Given the description of an element on the screen output the (x, y) to click on. 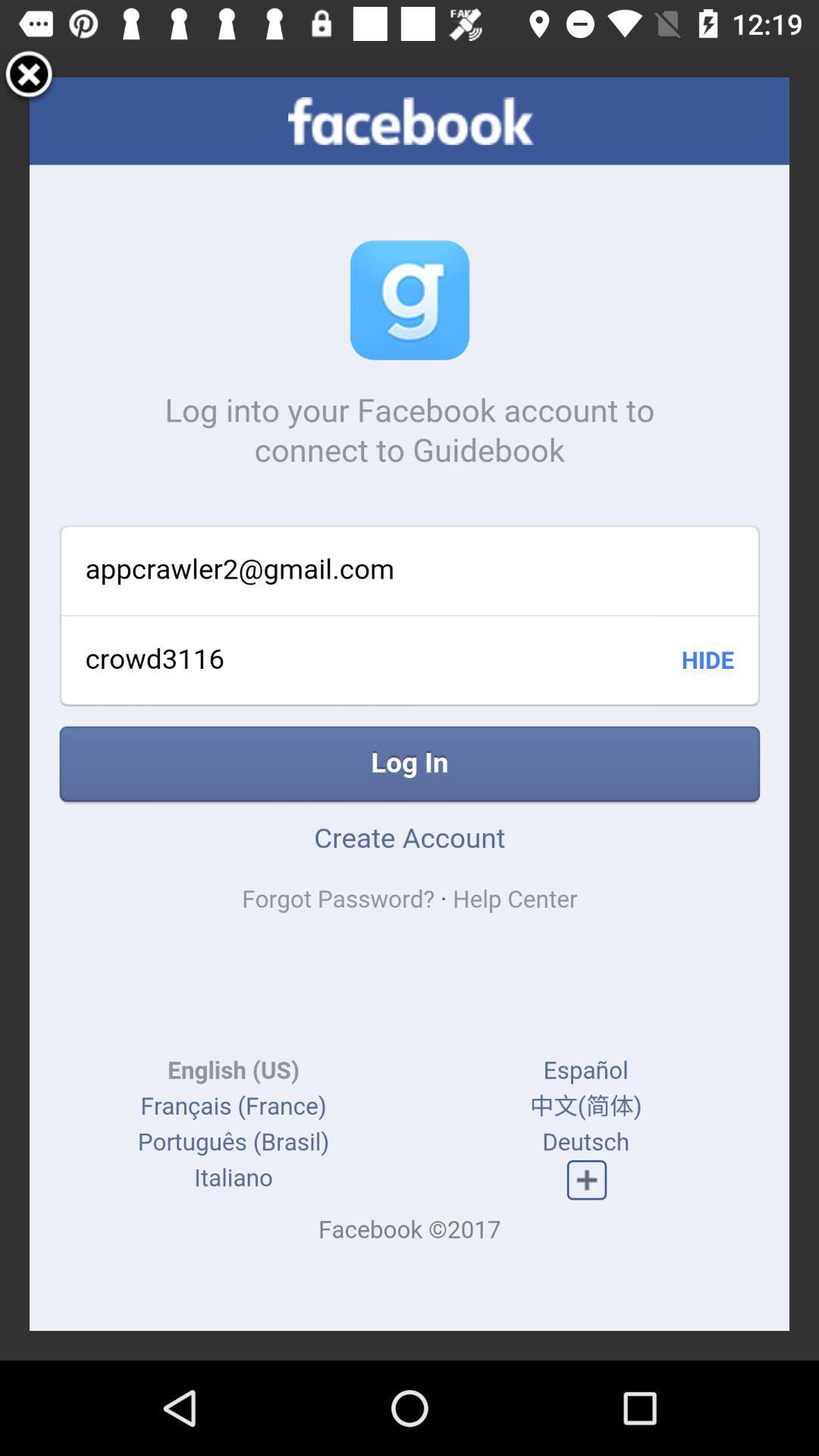
exit (29, 76)
